Given the description of an element on the screen output the (x, y) to click on. 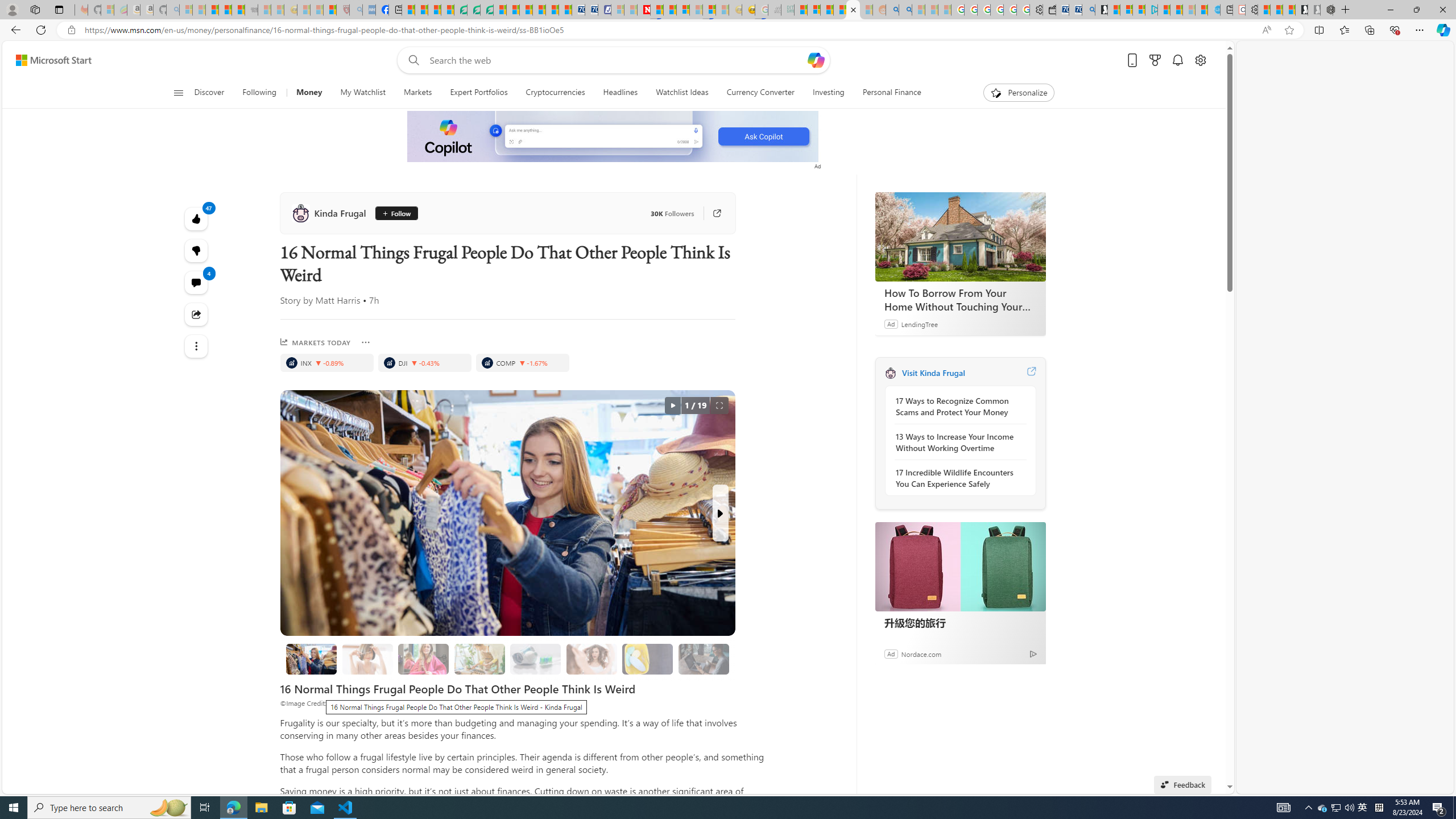
Cryptocurrencies (555, 92)
3. Growing From Seeds (479, 658)
Following (258, 92)
Full screen (719, 405)
Wallet (1049, 9)
6. Soap Saving (646, 659)
Microsoft Start Gaming (1101, 9)
17 Incredible Wildlife Encounters You Can Experience Safely (957, 477)
Following (259, 92)
Trusted Community Engagement and Contributions | Guidelines (656, 9)
